Given the description of an element on the screen output the (x, y) to click on. 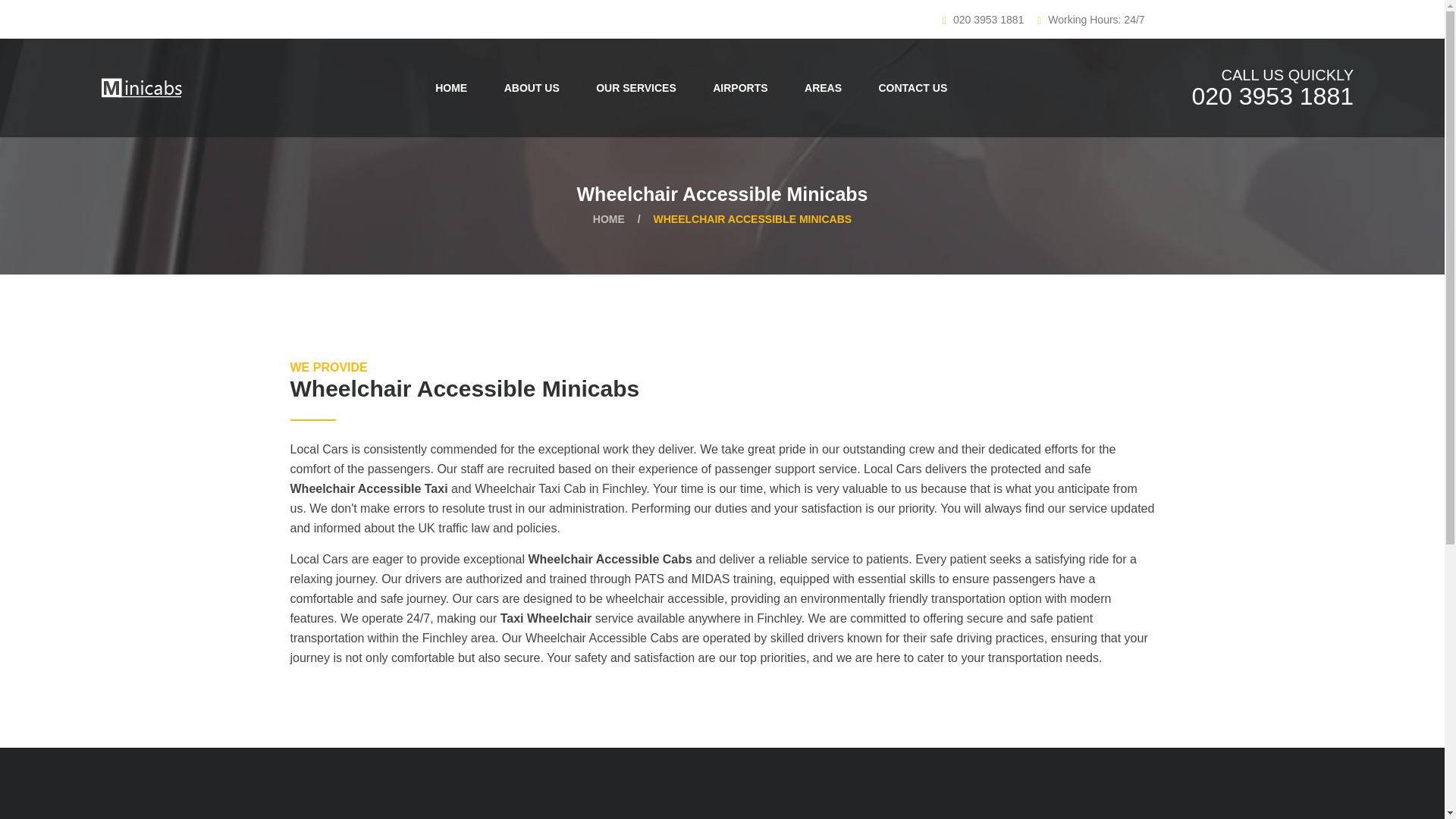
Kingsway Cars (913, 87)
AIRPORTS (740, 87)
HOME (450, 87)
AREAS (822, 87)
HOME (608, 218)
020 3953 1881 (988, 19)
CONTACT US (913, 87)
OUR SERVICES (635, 87)
020 3953 1881 (988, 19)
Kingsway Cars (531, 87)
Kingsway Cars (450, 87)
Kingsway Cars (1272, 95)
Kingsway Cars (822, 87)
ABOUT US (531, 87)
020 3953 1881 (1272, 95)
